Given the description of an element on the screen output the (x, y) to click on. 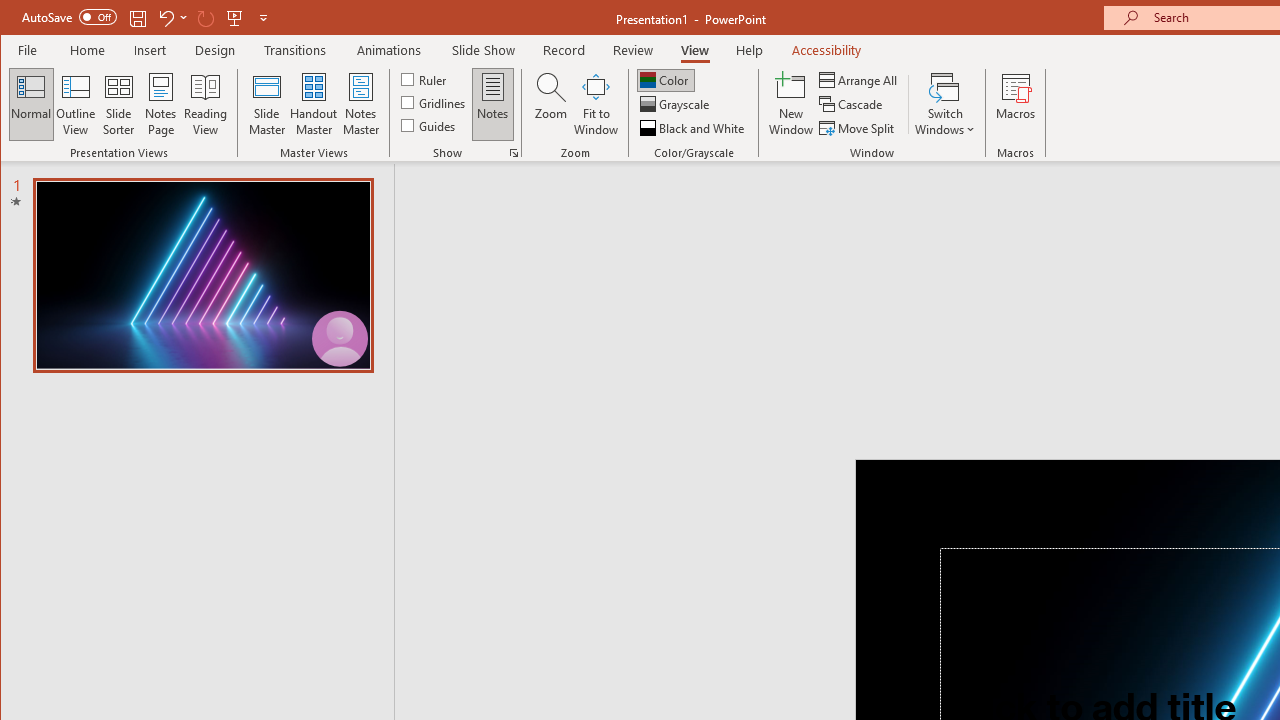
Notes Master (360, 104)
Switch Windows (944, 104)
Cascade (852, 103)
Slide Master (266, 104)
Guides (430, 124)
Macros (1016, 104)
Gridlines (435, 101)
